Given the description of an element on the screen output the (x, y) to click on. 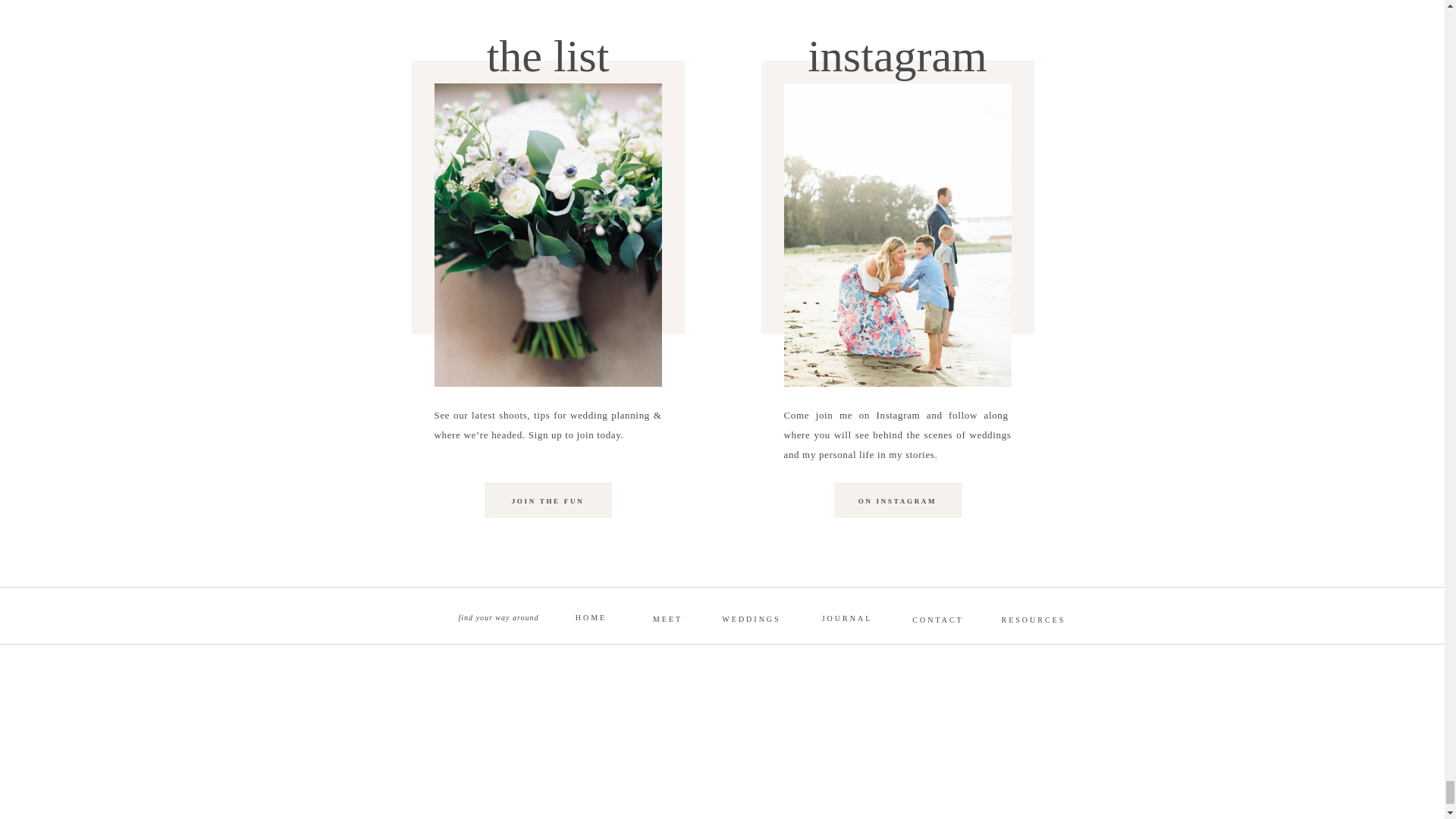
HOME (591, 615)
CONTACT (937, 617)
JOURNAL (846, 615)
MEET (667, 616)
RESOURCES (1033, 617)
WEDDINGS (751, 616)
ON INSTAGRAM (896, 501)
